Given the description of an element on the screen output the (x, y) to click on. 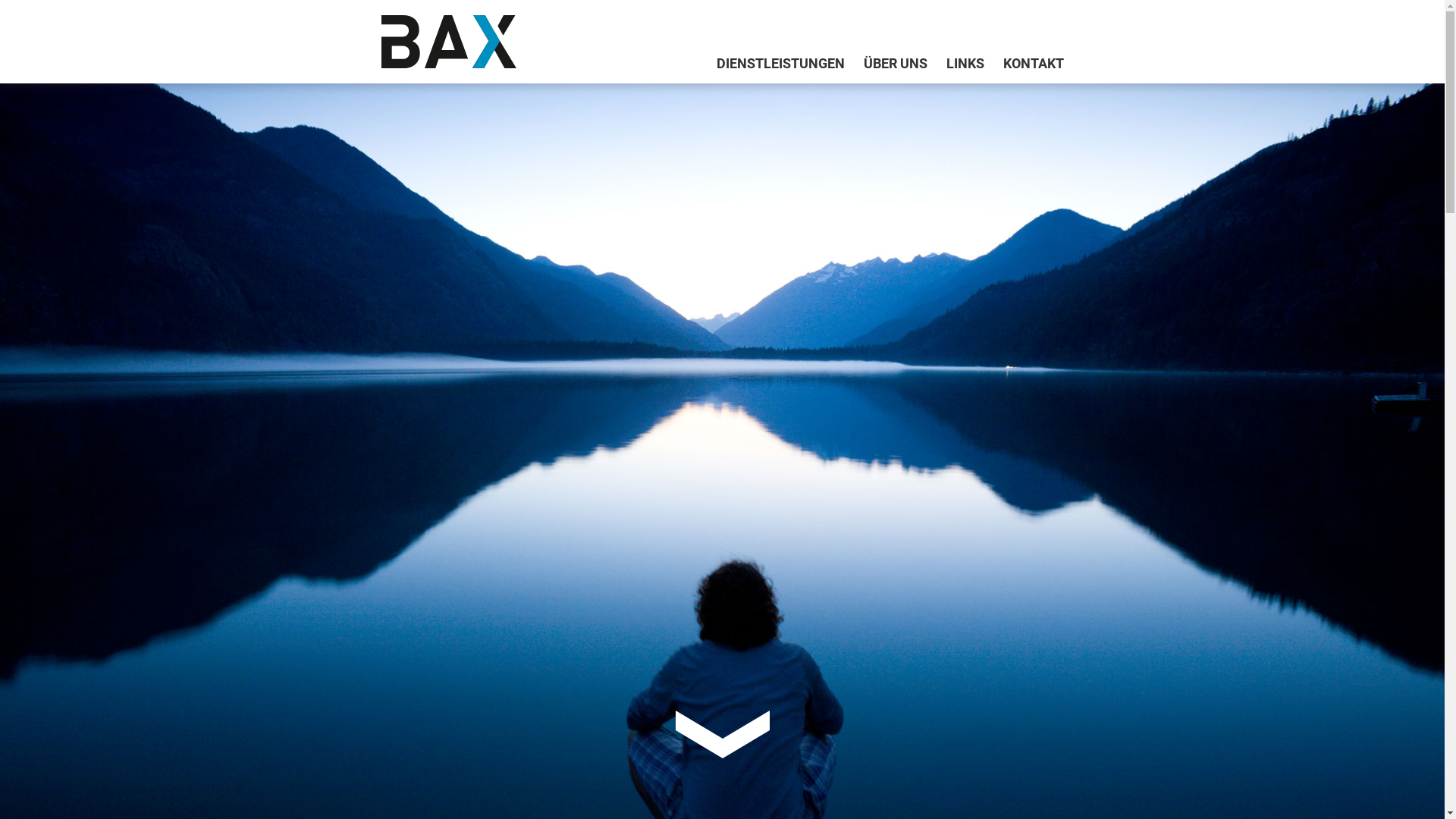
KONTAKT Element type: text (1023, 63)
LINKS Element type: text (954, 63)
weiter Element type: text (721, 734)
DIENSTLEISTUNGEN Element type: text (770, 63)
